Given the description of an element on the screen output the (x, y) to click on. 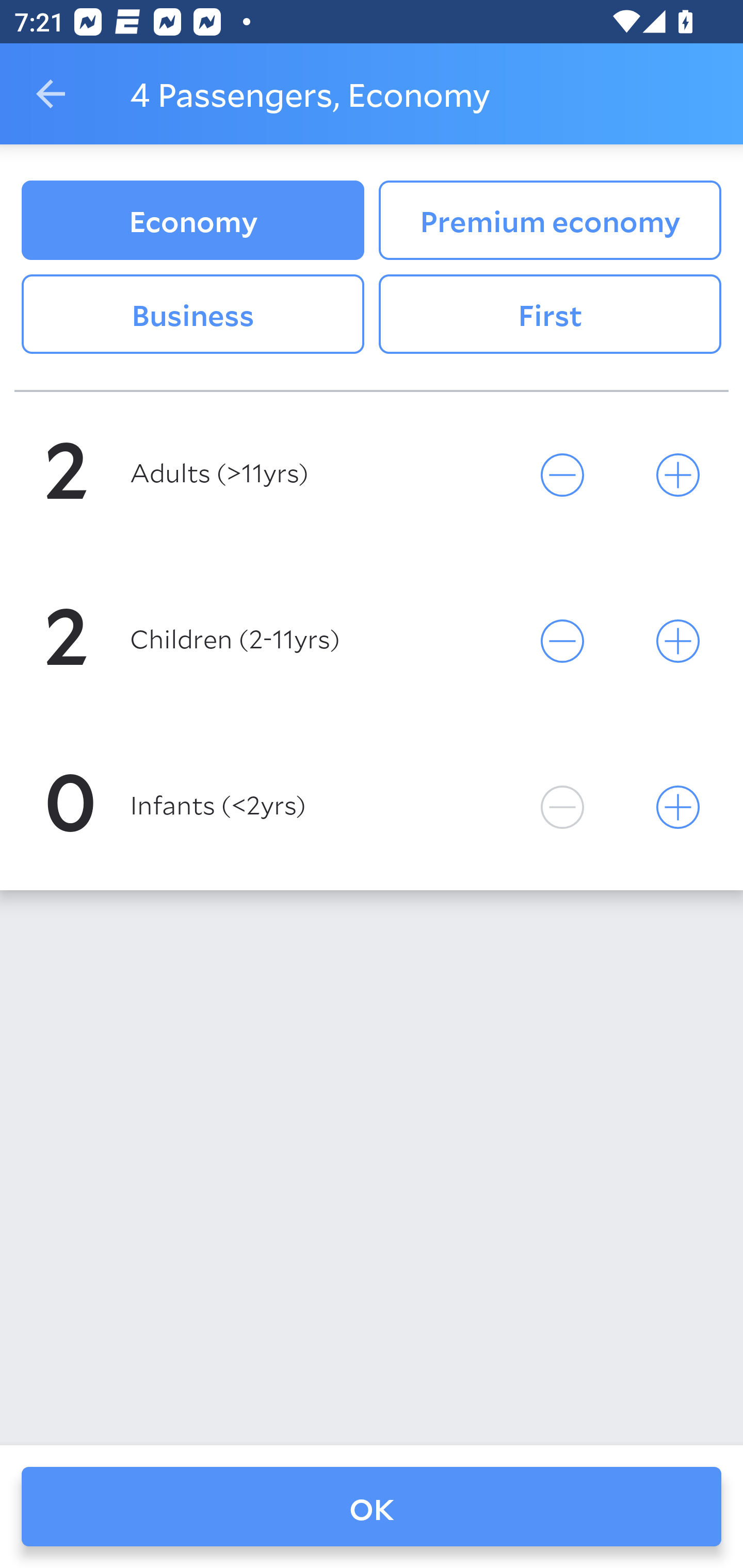
Navigate up (50, 93)
Economy (192, 220)
Premium economy (549, 220)
Business (192, 314)
First (549, 314)
OK (371, 1506)
